Given the description of an element on the screen output the (x, y) to click on. 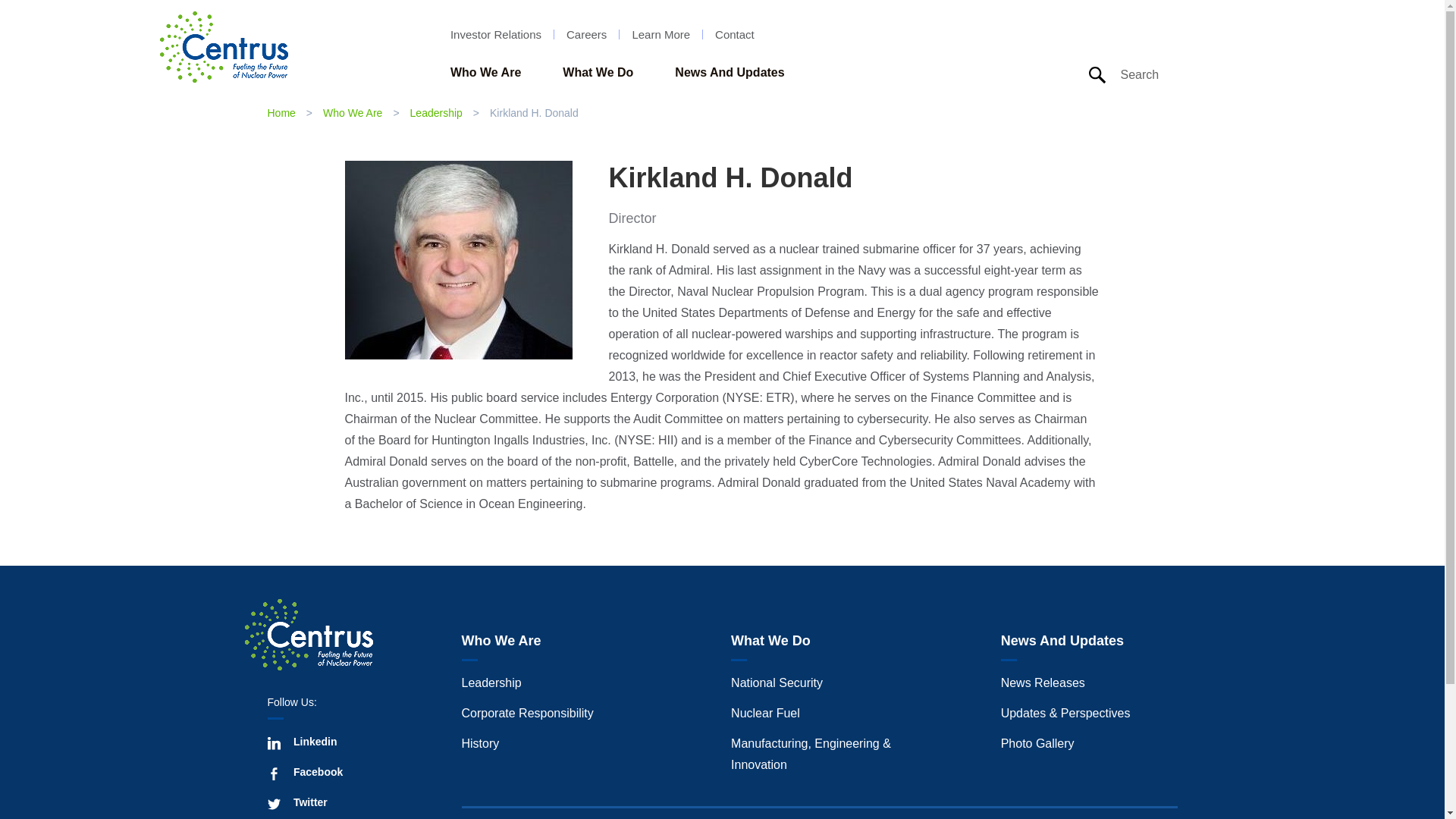
Learn More (660, 34)
News And Updates (729, 72)
What We Do (597, 72)
Careers (586, 34)
Investor Relations (495, 34)
Who We Are (485, 72)
Contact (734, 34)
